Given the description of an element on the screen output the (x, y) to click on. 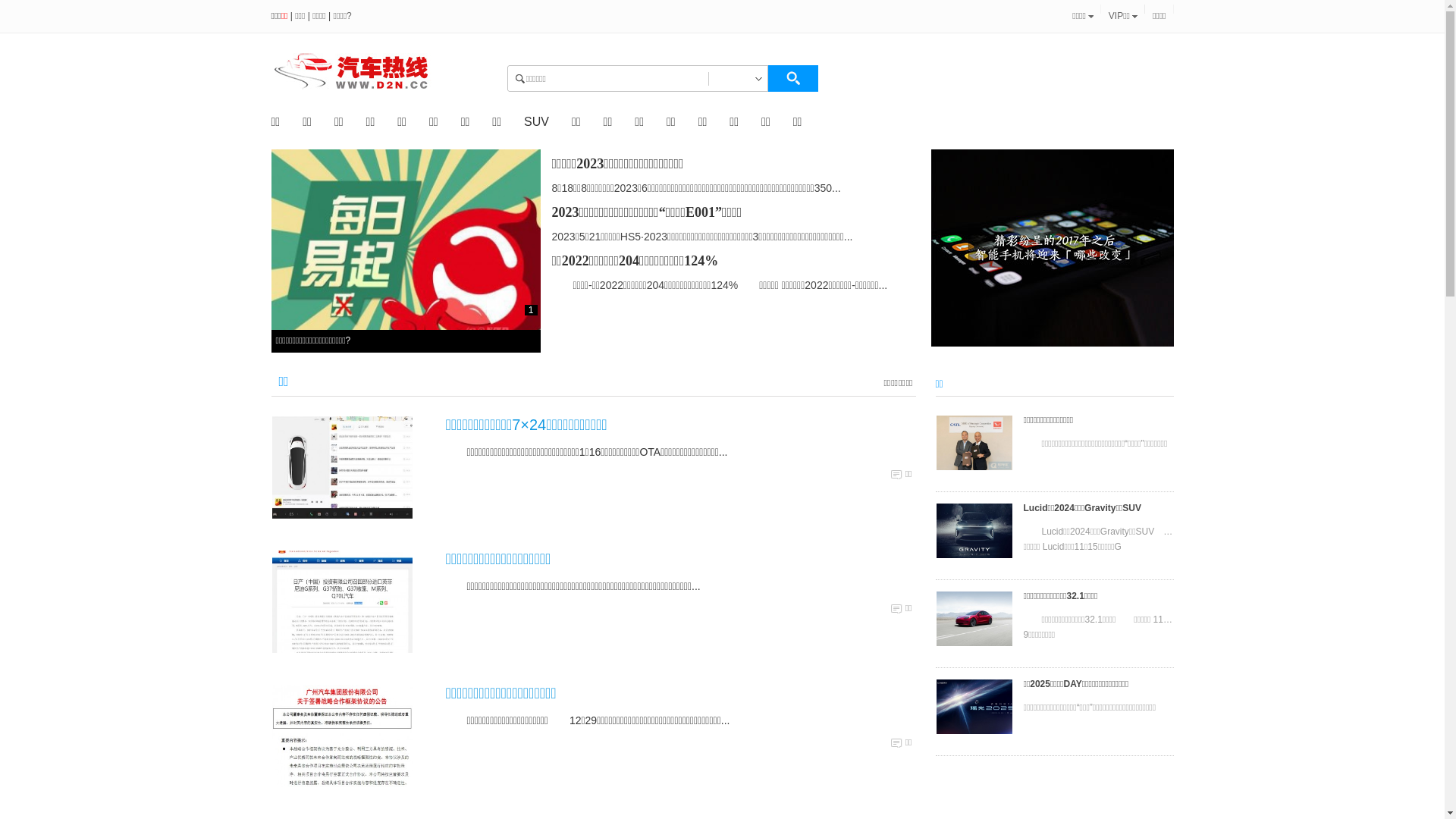
SUV Element type: text (536, 121)
